Given the description of an element on the screen output the (x, y) to click on. 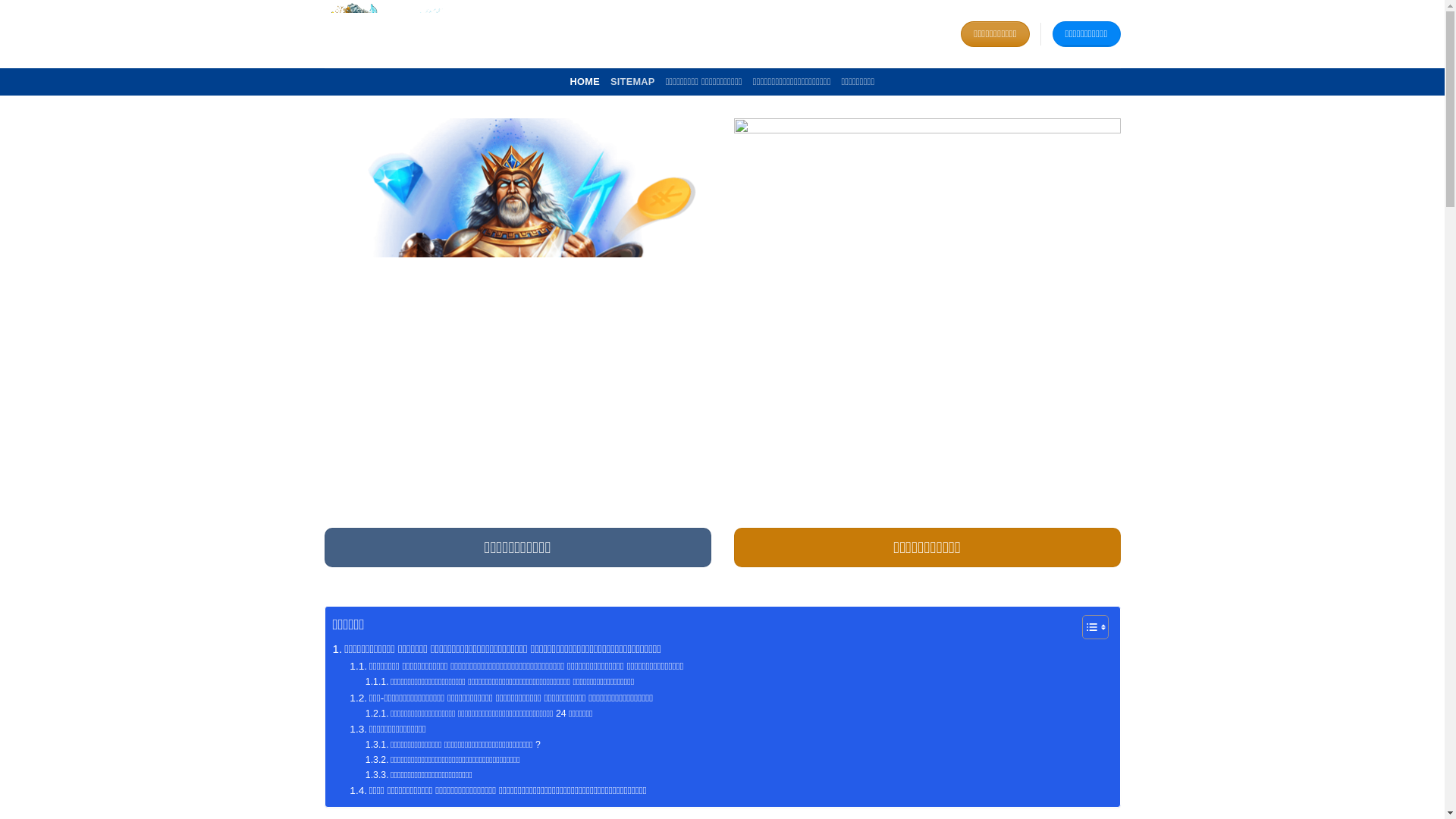
HOME (584, 81)
myenglishteacher (400, 33)
SITEMAP (632, 81)
